Given the description of an element on the screen output the (x, y) to click on. 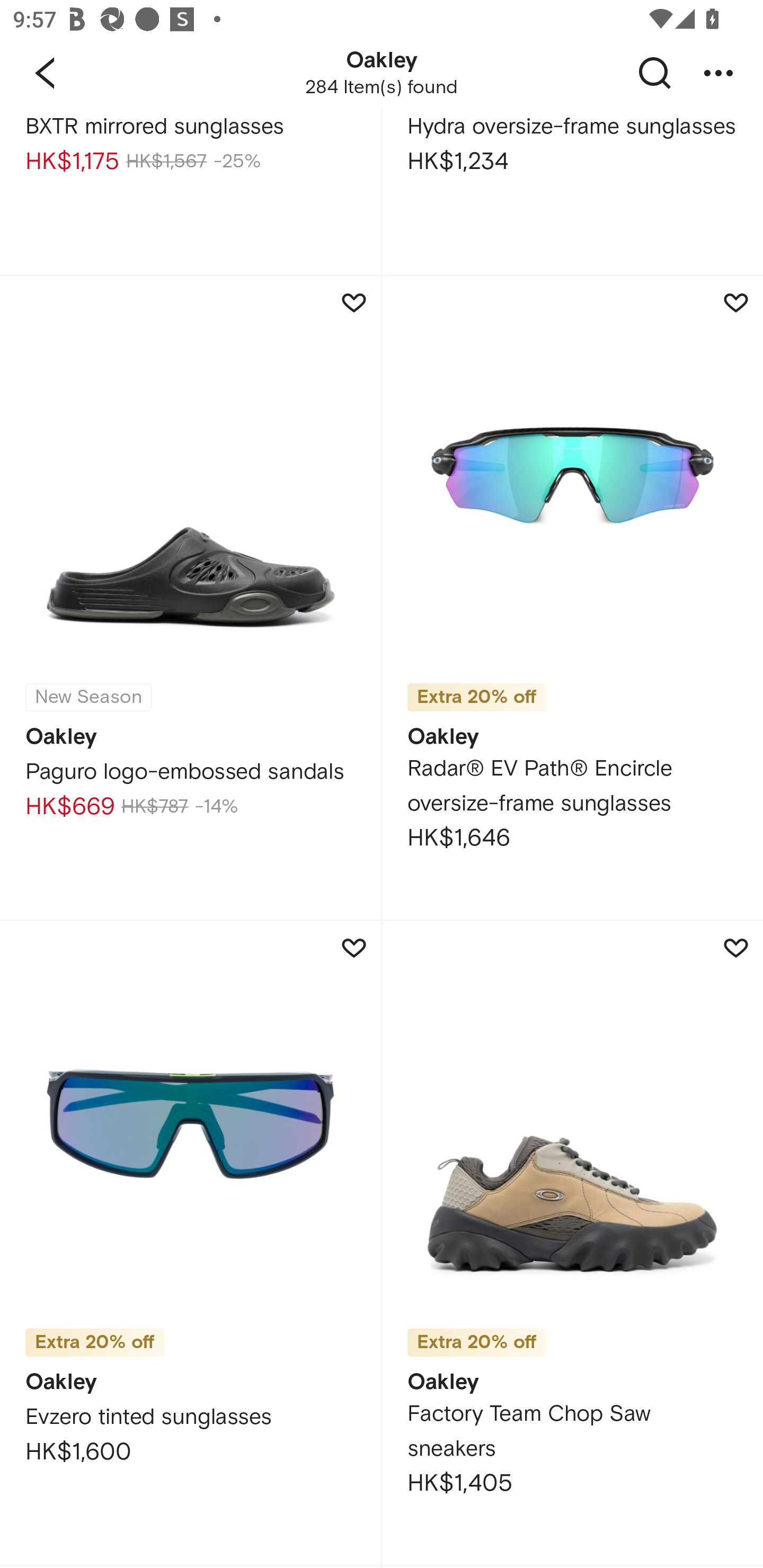
Extra 20% off (477, 697)
Extra 20% off (94, 1342)
Extra 20% off (477, 1342)
